Given the description of an element on the screen output the (x, y) to click on. 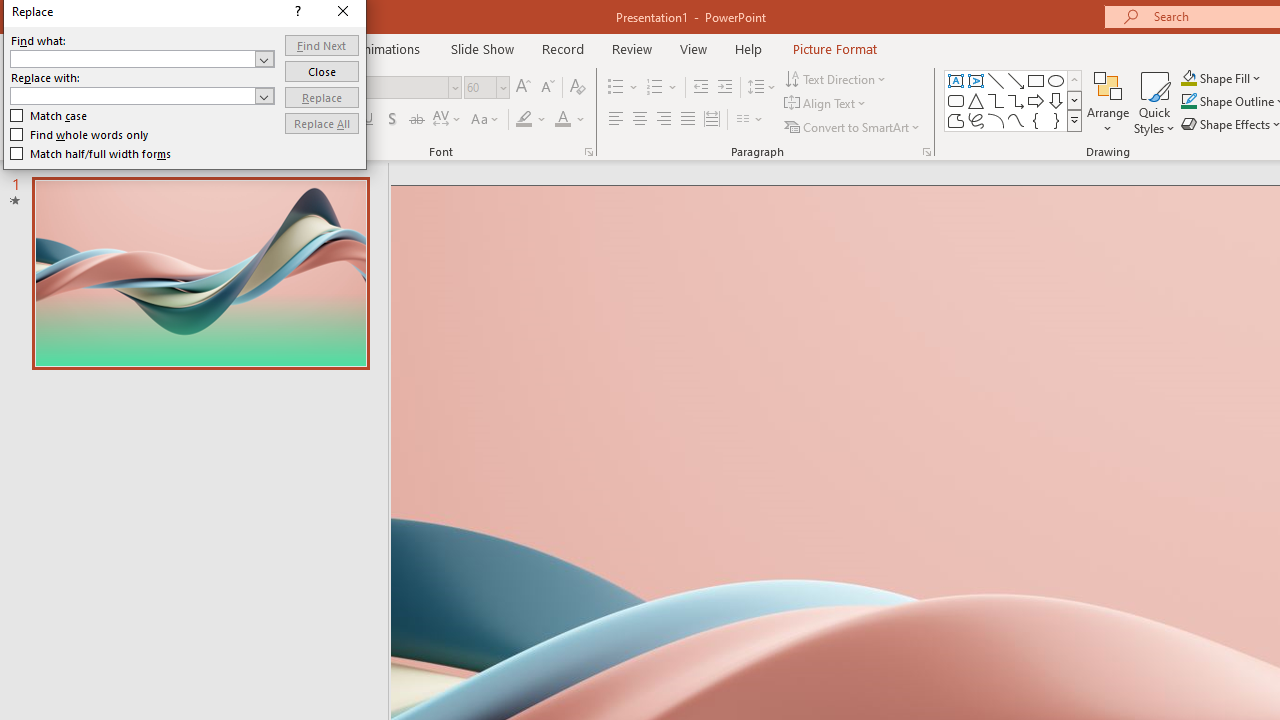
Bold (320, 119)
Change Case (486, 119)
Arrow: Right (1035, 100)
Freeform: Shape (955, 120)
Line Spacing (762, 87)
Italic (344, 119)
Line (995, 80)
Distributed (712, 119)
Increase Indent (725, 87)
